Given the description of an element on the screen output the (x, y) to click on. 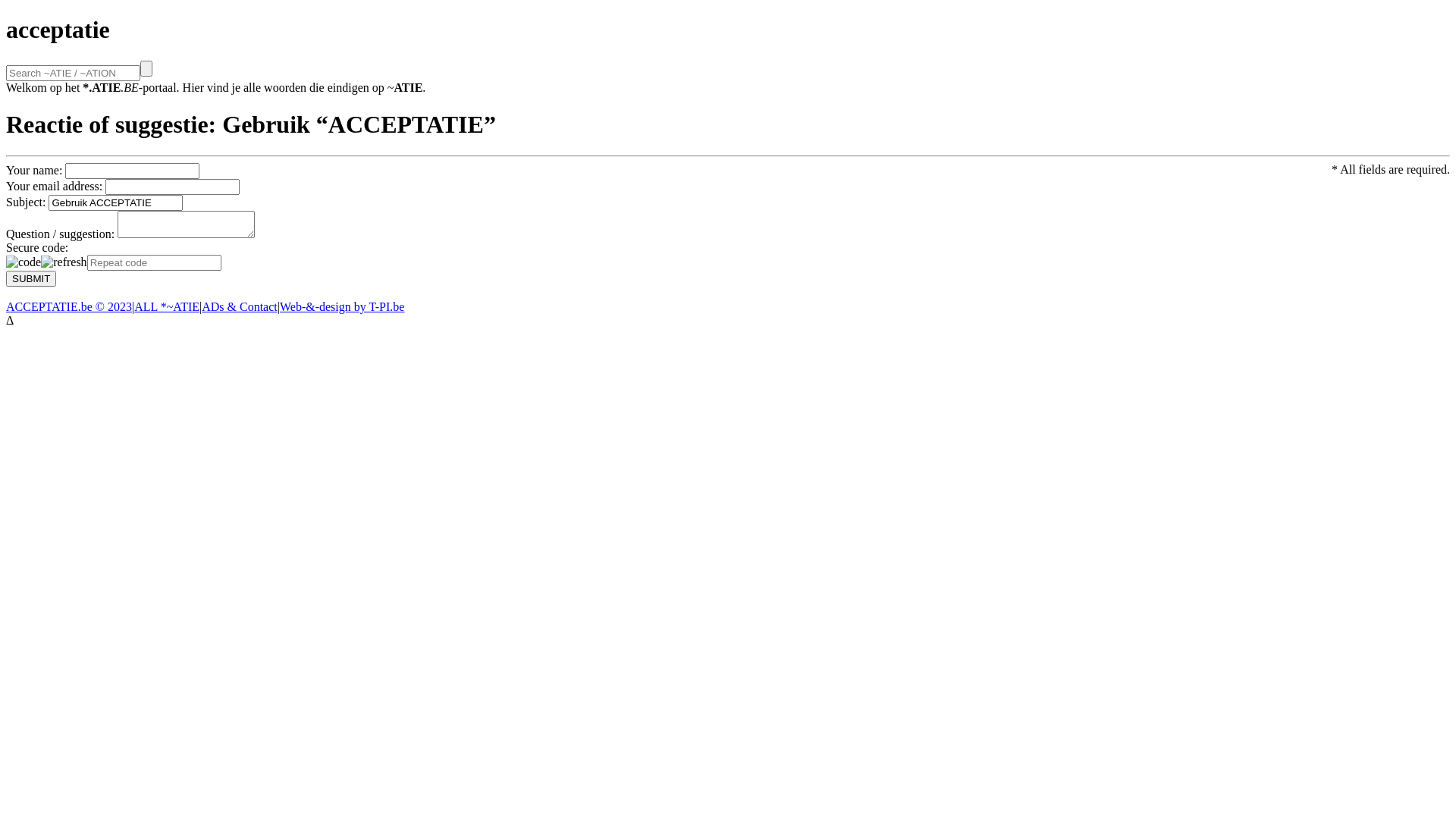
SUBMIT Element type: text (31, 278)
Web-&-design by T-PI.be Element type: text (341, 306)
ALL *~ATIE Element type: text (166, 306)
New code Element type: hover (63, 262)
ADs & Contact Element type: text (239, 306)
